Given the description of an element on the screen output the (x, y) to click on. 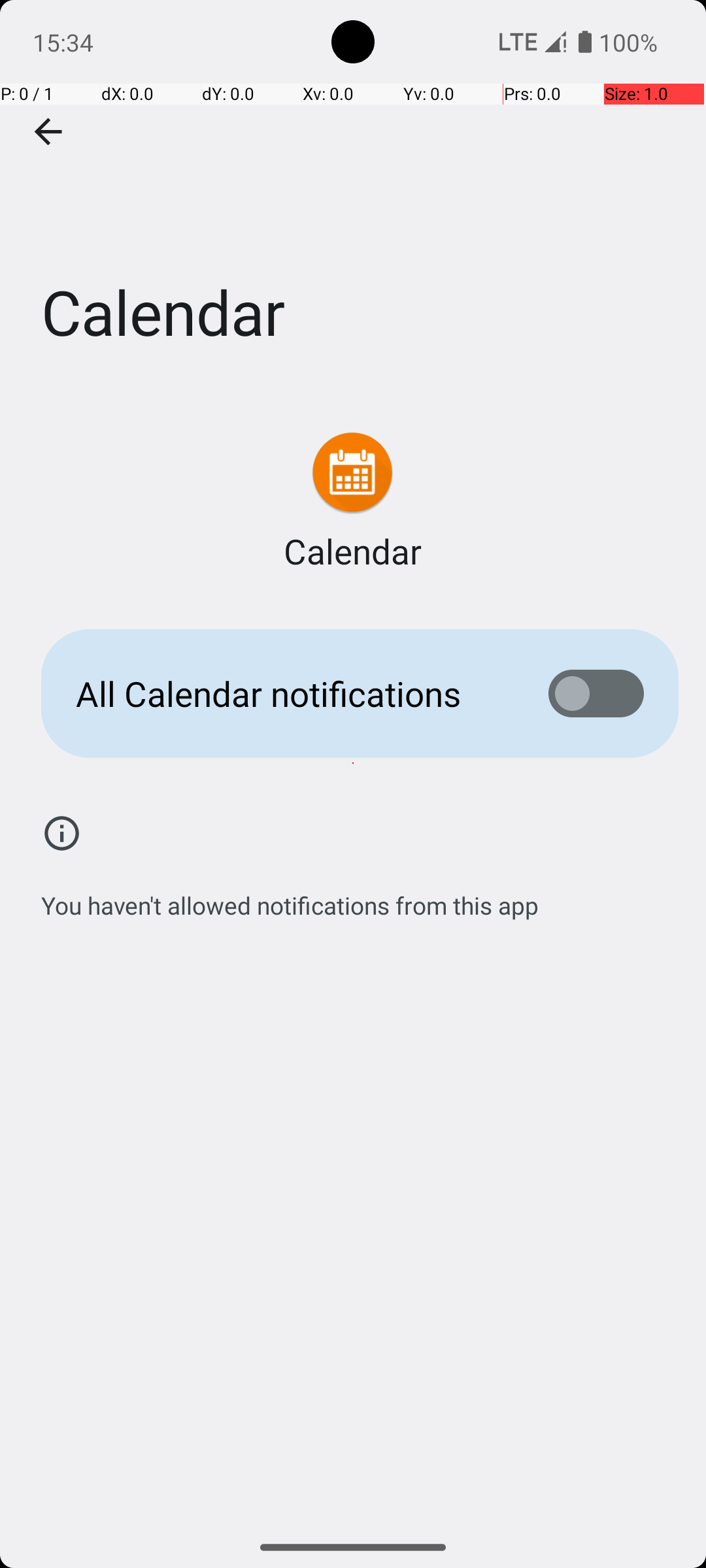
All Calendar notifications Element type: android.widget.TextView (291, 693)
You haven't allowed notifications from this app Element type: android.widget.TextView (290, 898)
